Given the description of an element on the screen output the (x, y) to click on. 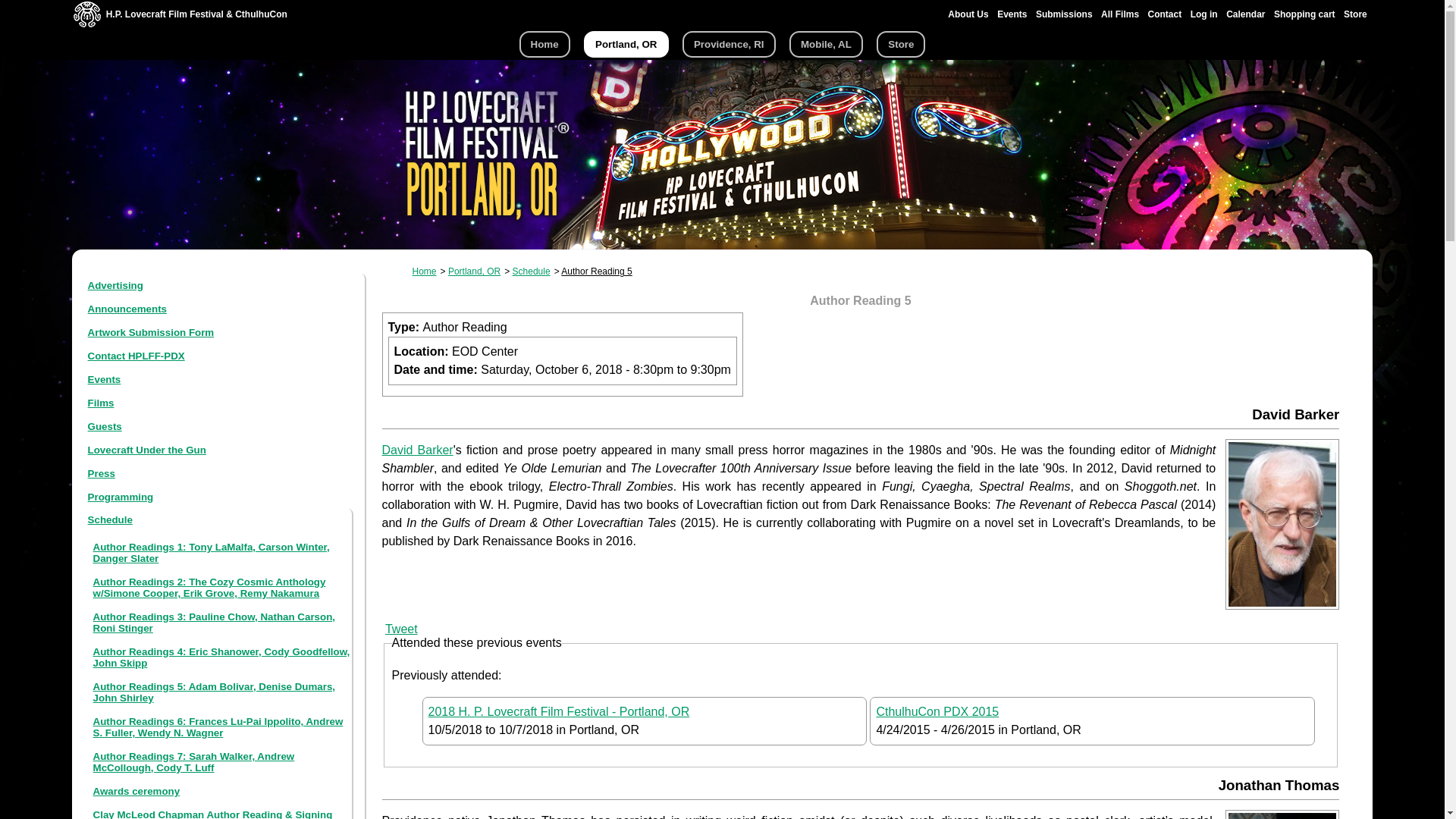
All Films (1119, 14)
Programming (120, 496)
Films (101, 402)
Contact HPLFF-PDX (135, 355)
Lovecraft Under the Gun (146, 449)
Providence, RI (729, 44)
Schedule (109, 519)
Guests (104, 426)
Contact (1165, 14)
Author Readings 3: Pauline Chow, Nathan Carson, Roni Stinger (213, 621)
Shopping cart (1304, 14)
Awards ceremony (136, 790)
Store (900, 44)
Press (101, 473)
